Given the description of an element on the screen output the (x, y) to click on. 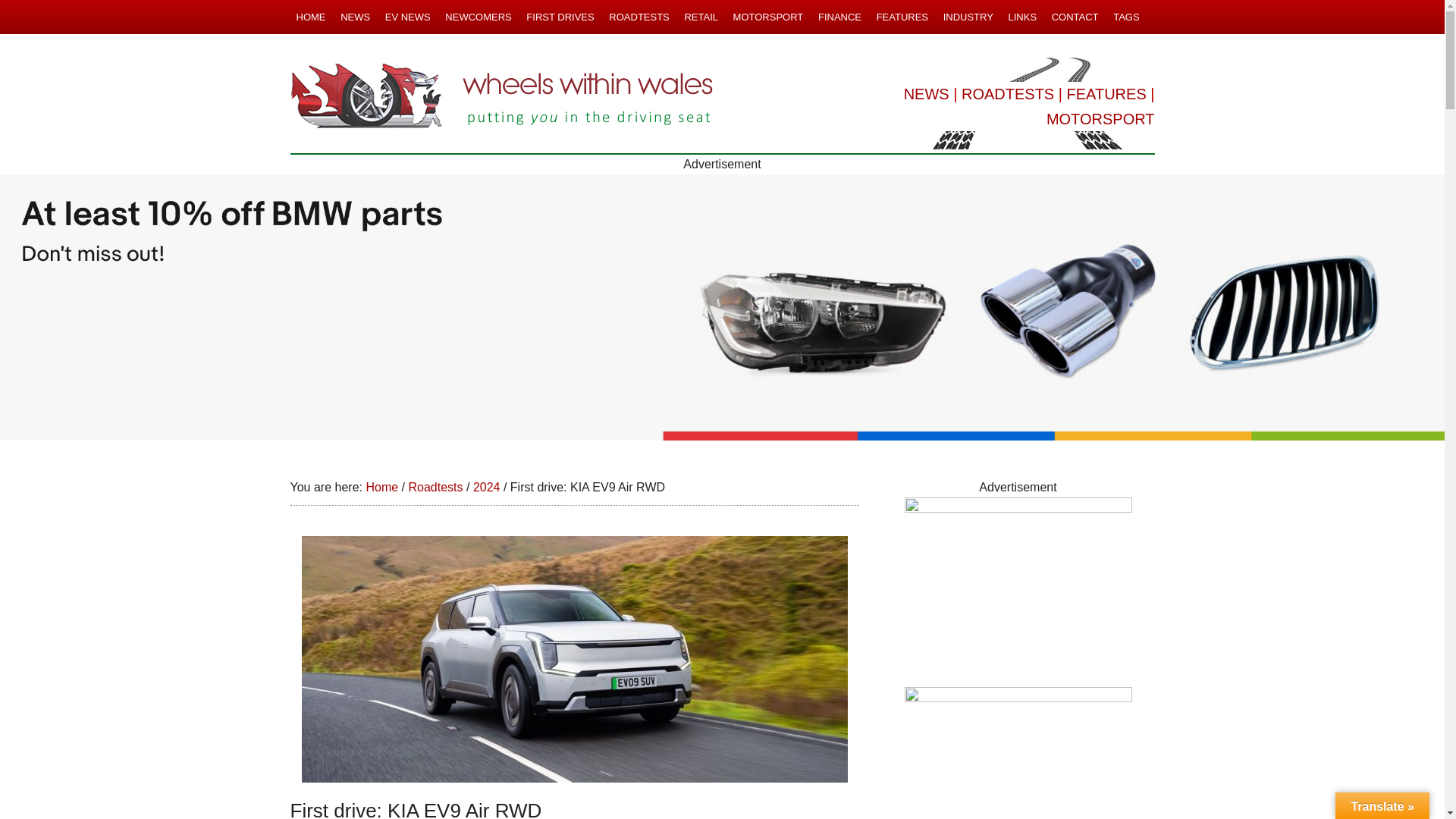
FEATURES (902, 17)
FIRST DRIVES (559, 17)
FEATURES (1107, 93)
RETAIL (700, 17)
ROADTESTS (1007, 93)
NEWS (926, 93)
MOTORSPORT (1100, 118)
MOTORSPORT (767, 17)
LINKS (1021, 17)
HOME (310, 17)
